Given the description of an element on the screen output the (x, y) to click on. 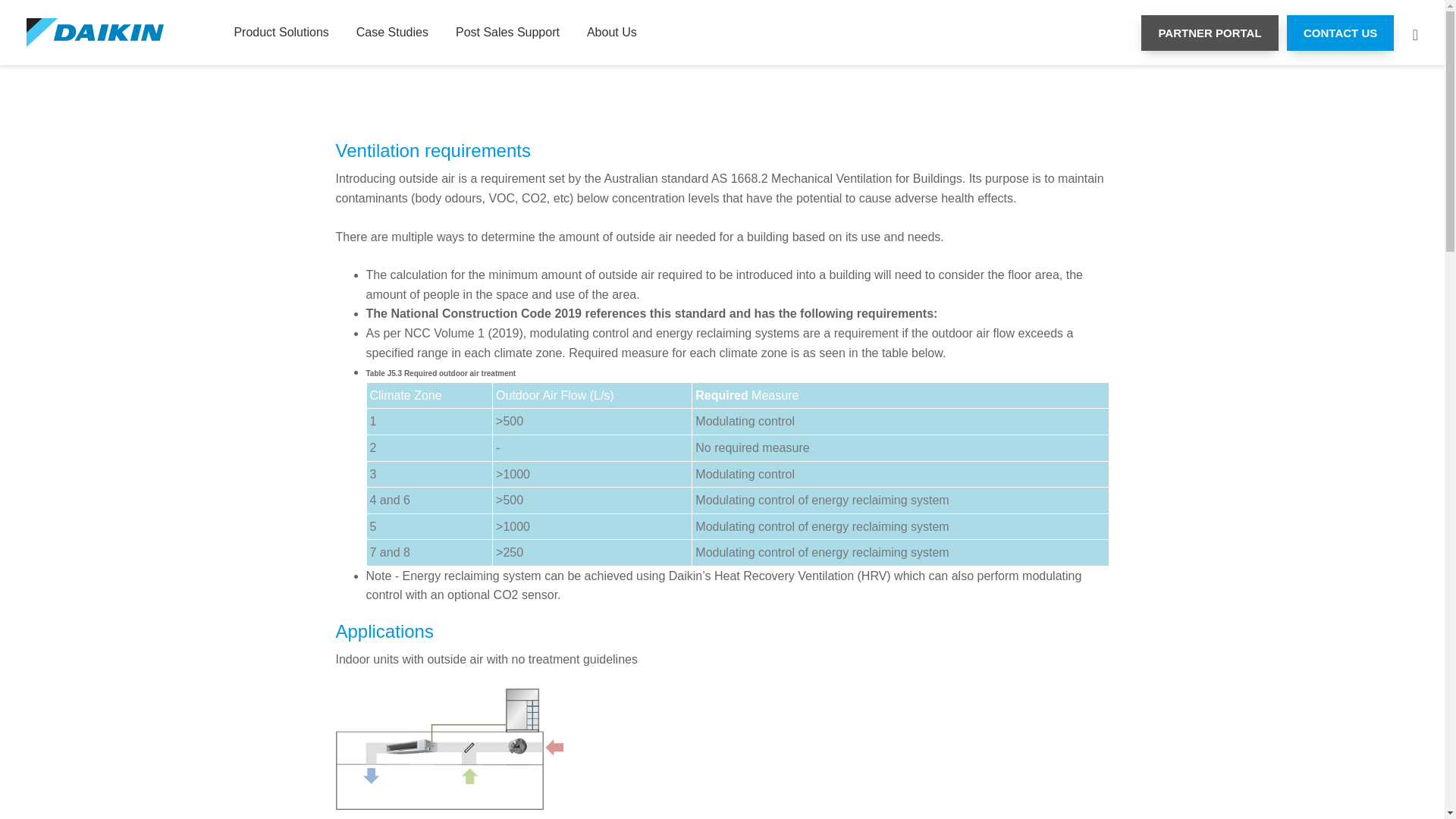
Case Studies Element type: text (392, 32)
Post Sales Support Element type: text (507, 32)
Product Solutions Element type: text (280, 32)
CONTACT US Element type: text (1339, 32)
About Us Element type: text (611, 32)
PARTNER PORTAL Element type: text (1209, 32)
